Given the description of an element on the screen output the (x, y) to click on. 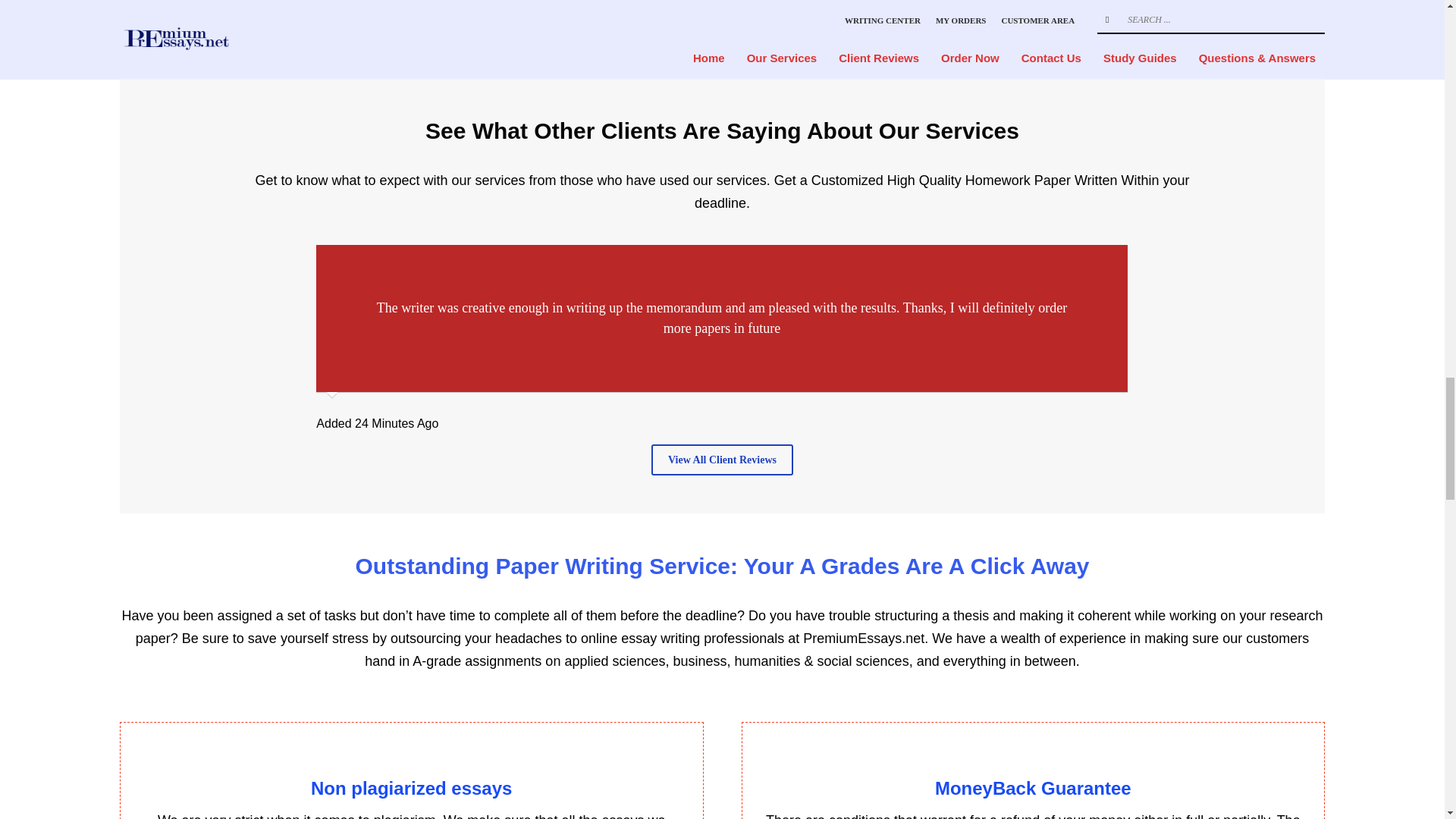
the oppression and maltreatmen (711, 360)
civil rights and human rights (716, 188)
View All Client Reviews (721, 459)
